Given the description of an element on the screen output the (x, y) to click on. 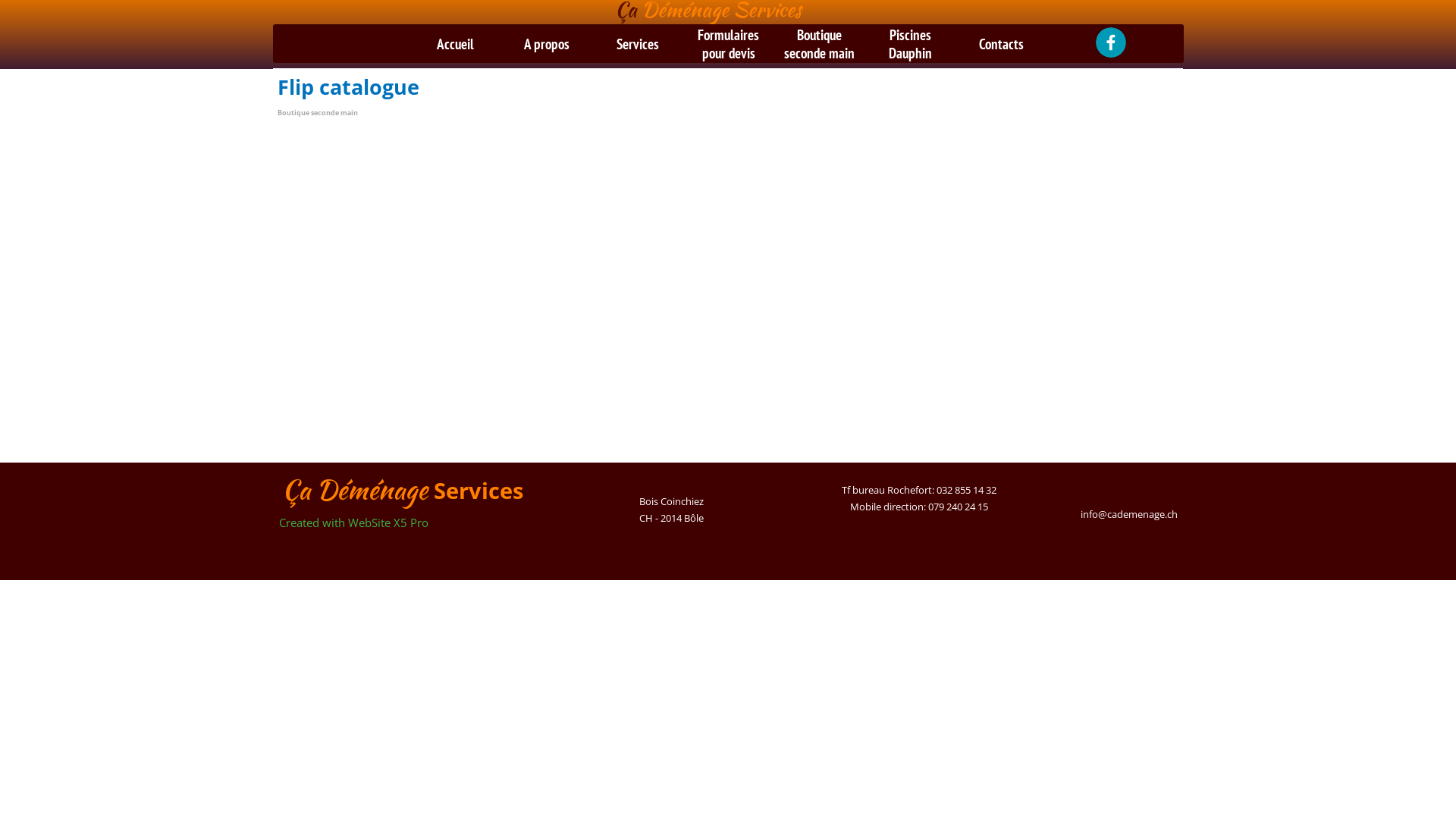
Services Element type: text (636, 43)
Boutique seconde main Element type: text (317, 112)
Contacts Element type: text (1000, 43)
Accueil Element type: text (454, 43)
Recherche Element type: text (368, 42)
Piscines Dauphin Element type: text (909, 43)
Boutique seconde main Element type: text (818, 43)
A propos Element type: text (545, 43)
